Given the description of an element on the screen output the (x, y) to click on. 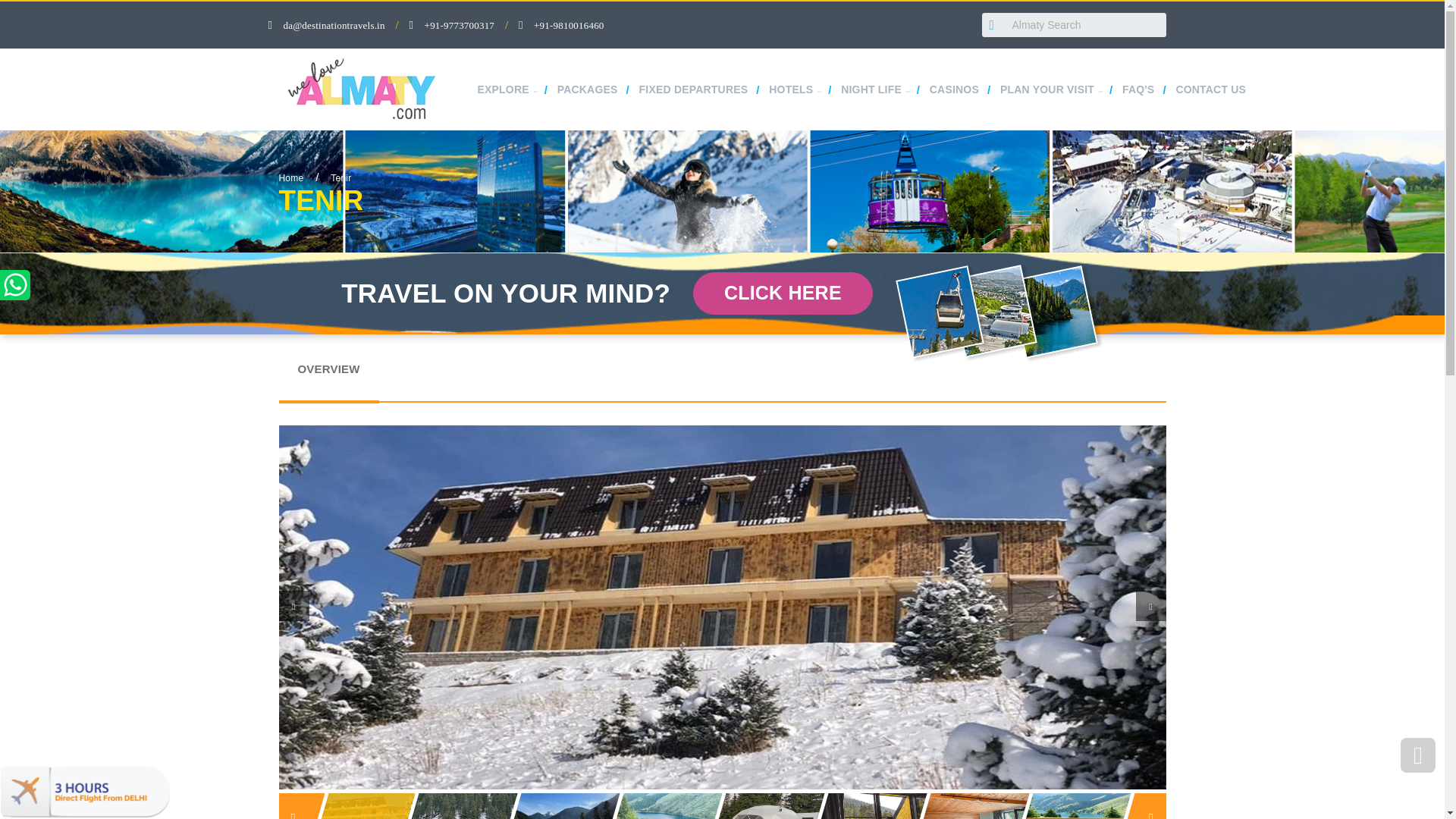
We Love Almaty (363, 89)
Our Partners (406, 684)
Flight (85, 790)
OVERVIEW (722, 377)
